Given the description of an element on the screen output the (x, y) to click on. 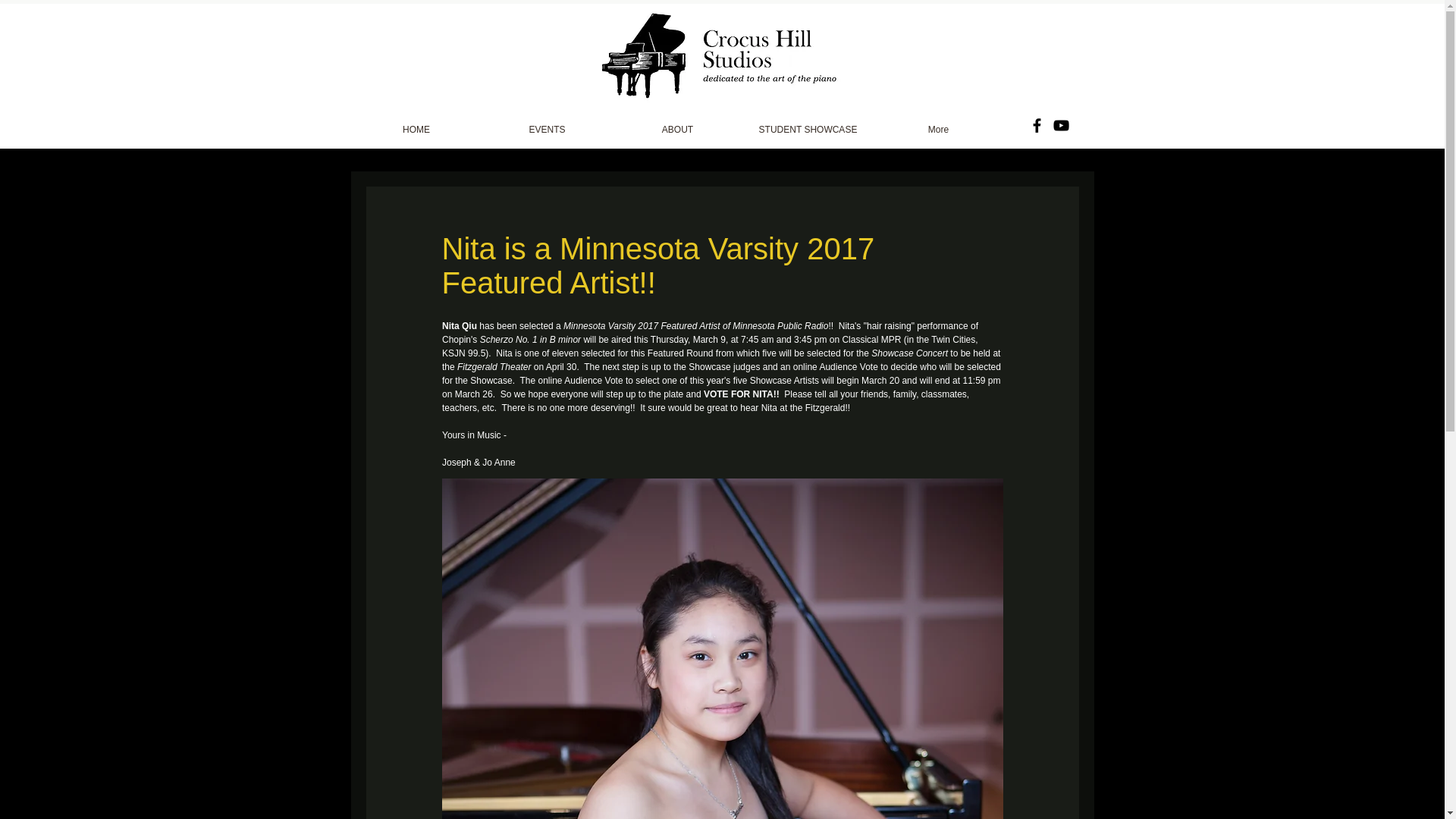
HOME (415, 125)
